Given the description of an element on the screen output the (x, y) to click on. 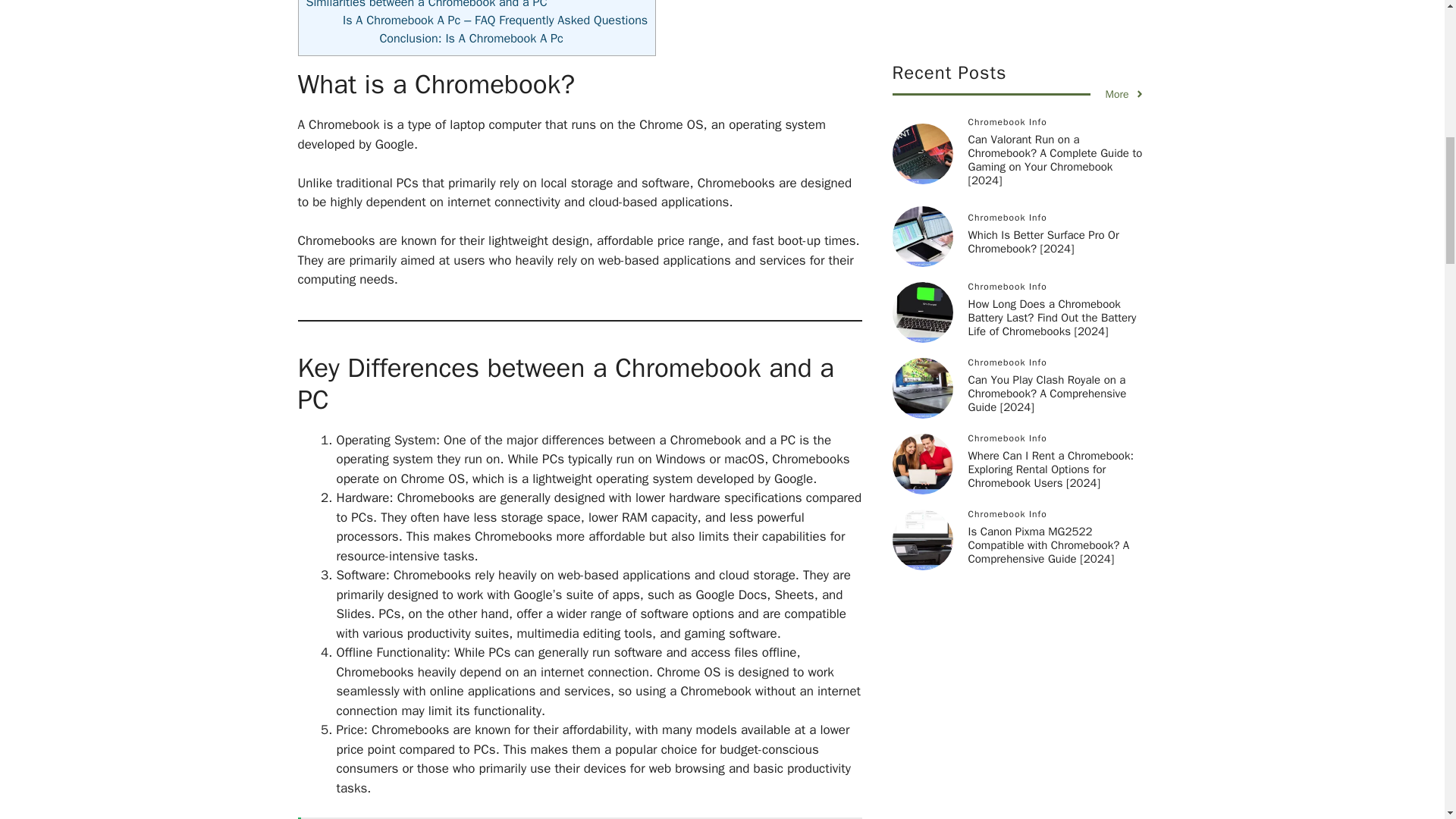
Conclusion: Is A Chromebook A Pc (470, 37)
Scroll back to top (1406, 720)
Similarities between a Chromebook and a PC (426, 4)
